Given the description of an element on the screen output the (x, y) to click on. 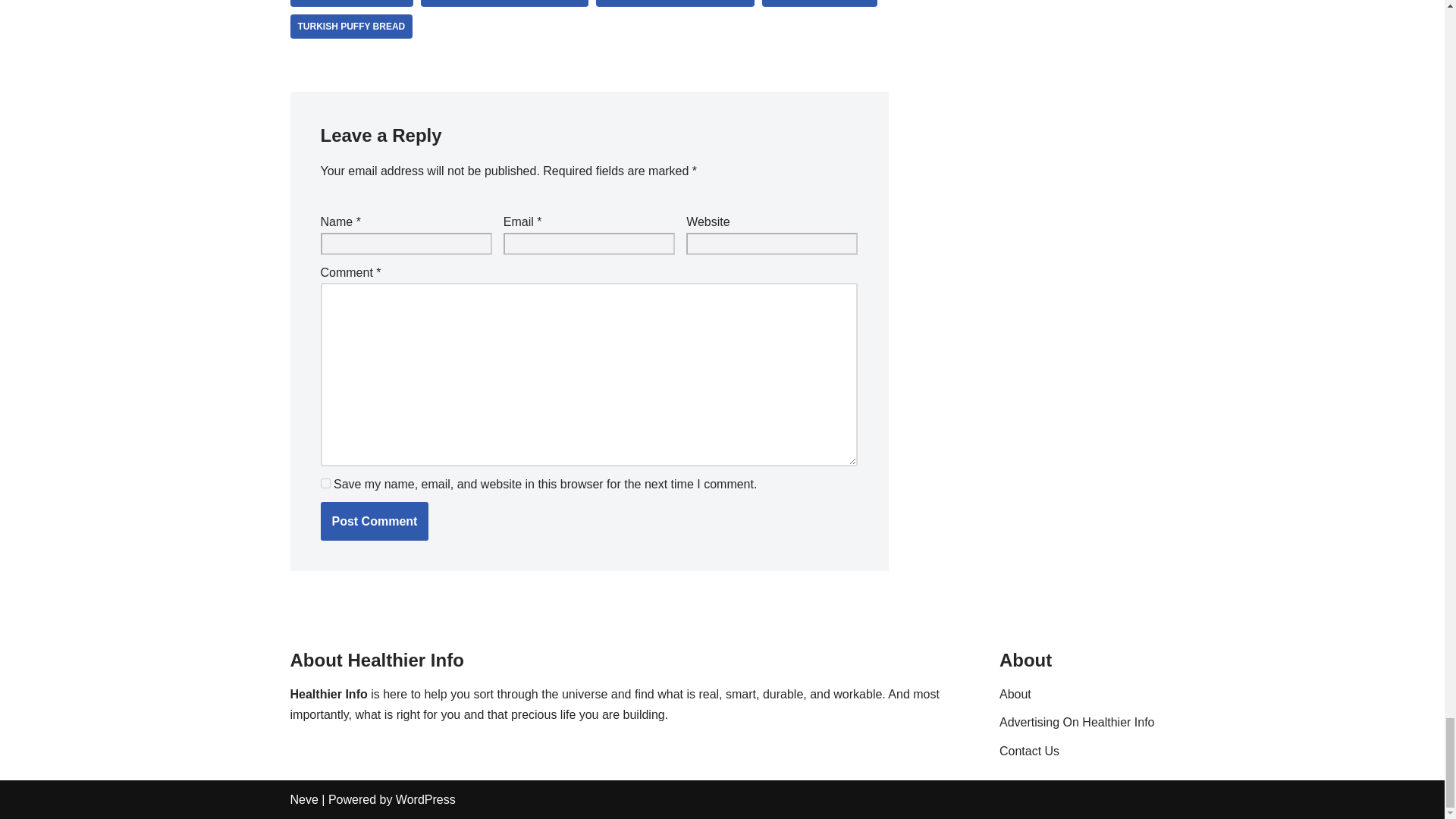
TURKISH FLAT BREAD RECIPES (674, 3)
Post Comment (374, 521)
TURKISH PUFFY BREAD (350, 26)
turkish pide recipe (819, 3)
TURKISH BREAD WITHOUT YEAST (504, 3)
yes (325, 483)
turkish flat bread recipes (674, 3)
turkish bread types (350, 3)
TURKISH PIDE RECIPE (819, 3)
turkish puffy bread (350, 26)
